Given the description of an element on the screen output the (x, y) to click on. 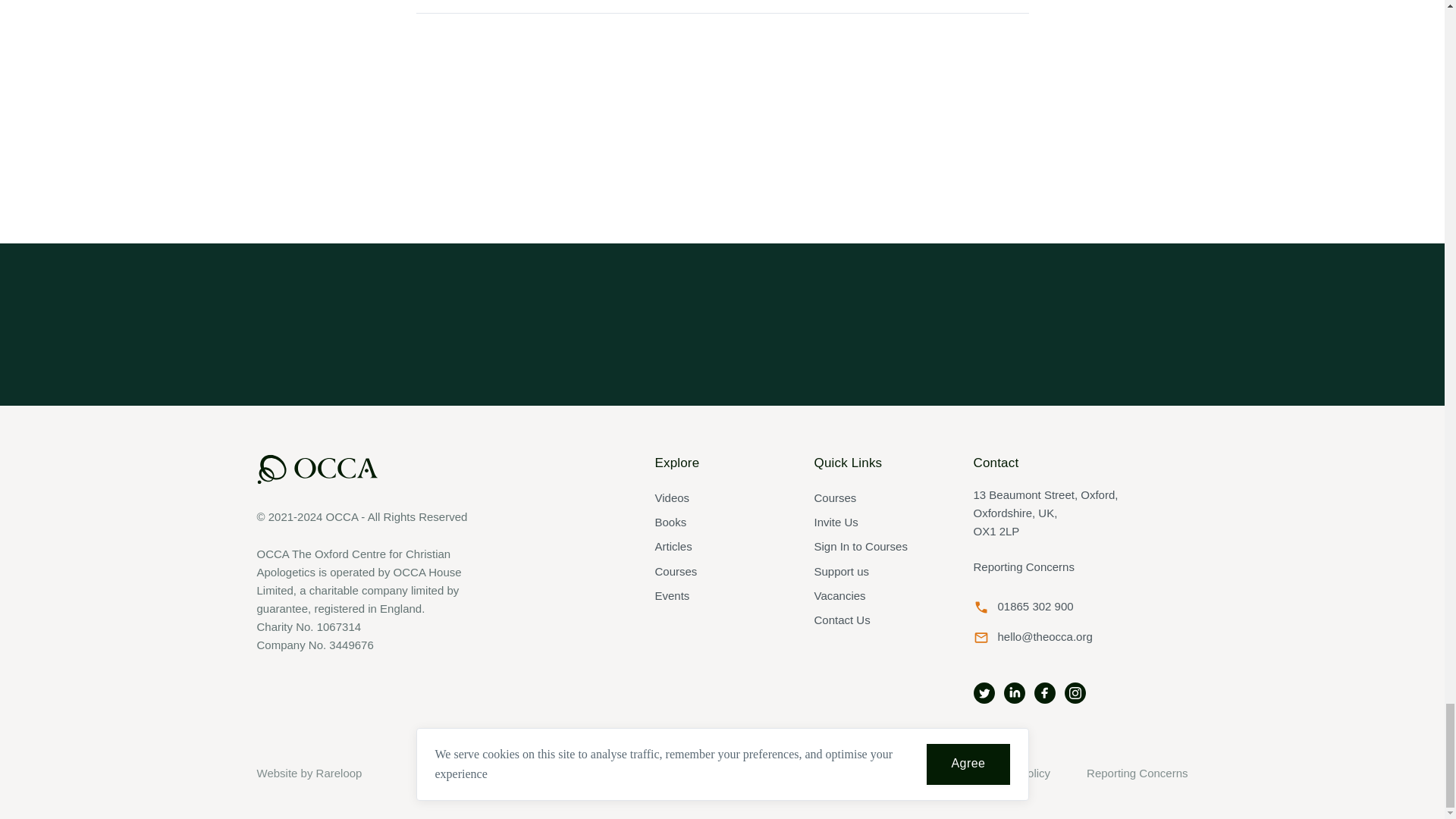
Articles (722, 546)
Vacancies (881, 595)
Courses (881, 498)
Events (722, 595)
Support us (881, 571)
Videos (722, 498)
Books (722, 522)
Sign In to Courses (881, 546)
Contact Us (881, 620)
Courses (722, 571)
Invite Us (881, 522)
